Given the description of an element on the screen output the (x, y) to click on. 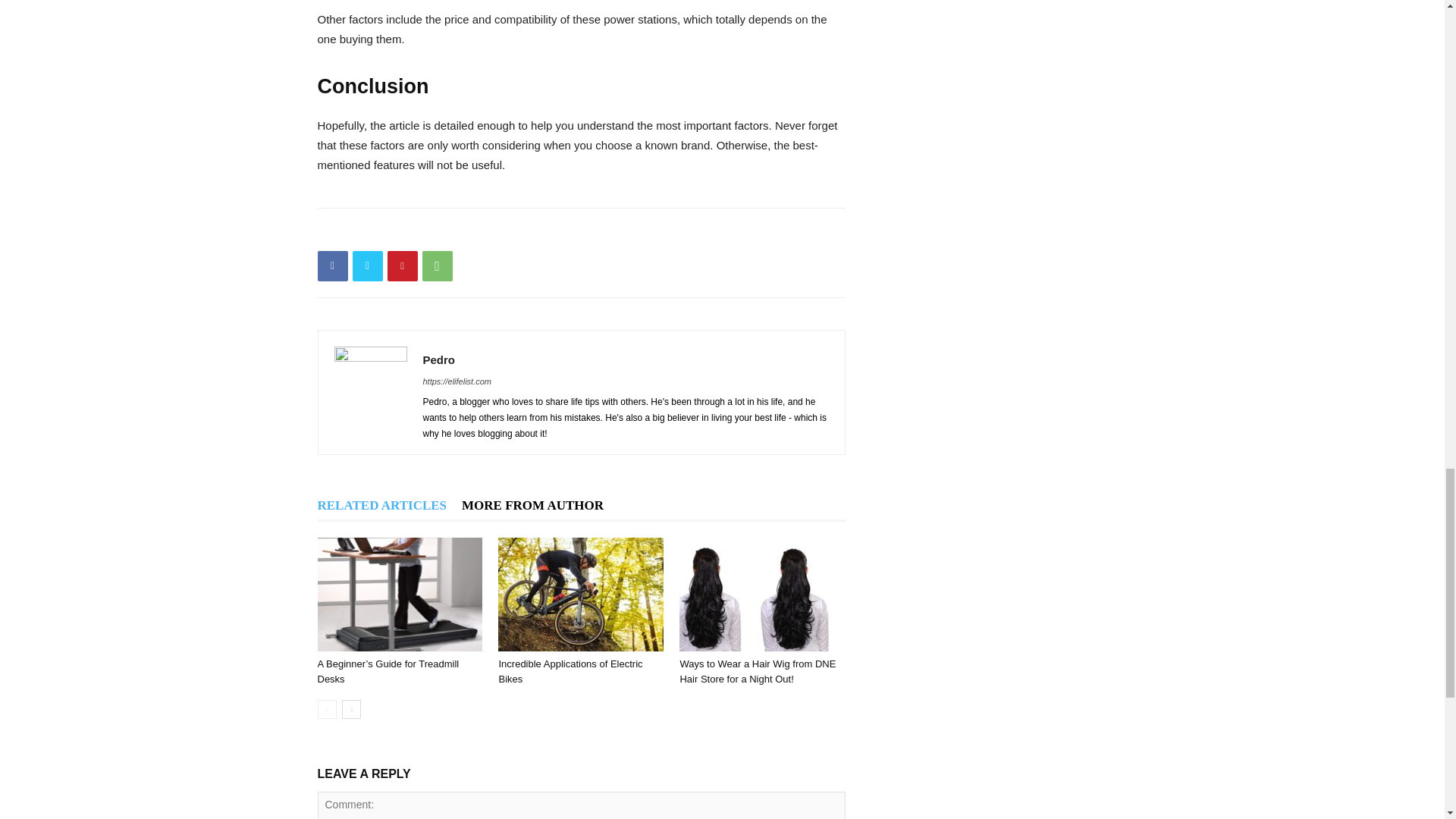
Facebook (332, 265)
Pinterest (401, 265)
Twitter (366, 265)
Pedro (439, 359)
RELATED ARTICLES (381, 505)
WhatsApp (436, 265)
bottomFacebookLike (430, 232)
Incredible Applications of Electric Bikes (580, 594)
MORE FROM AUTHOR (532, 505)
